Given the description of an element on the screen output the (x, y) to click on. 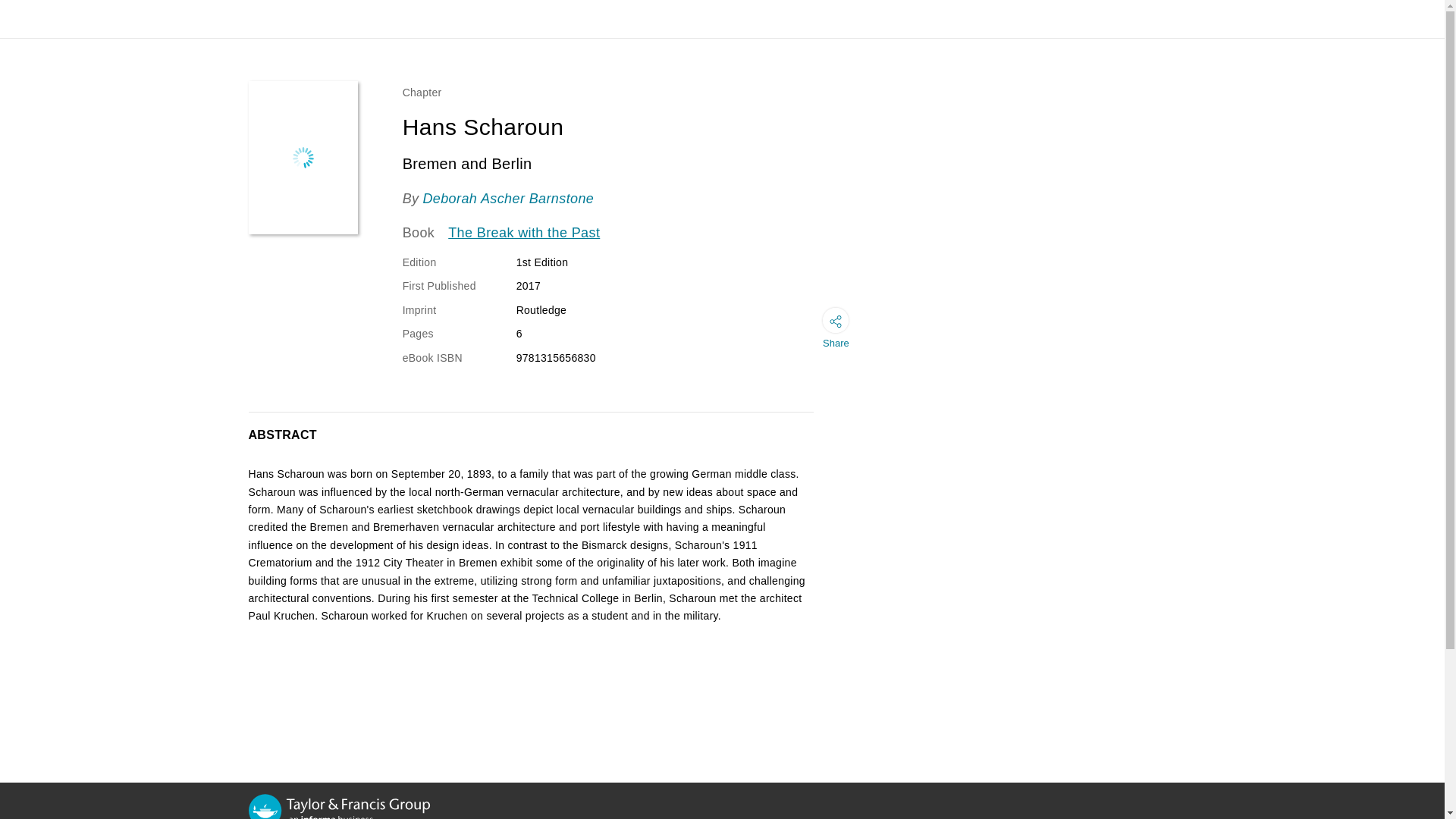
The Break with the Past (523, 233)
Deborah Ascher Barnstone (508, 198)
